Given the description of an element on the screen output the (x, y) to click on. 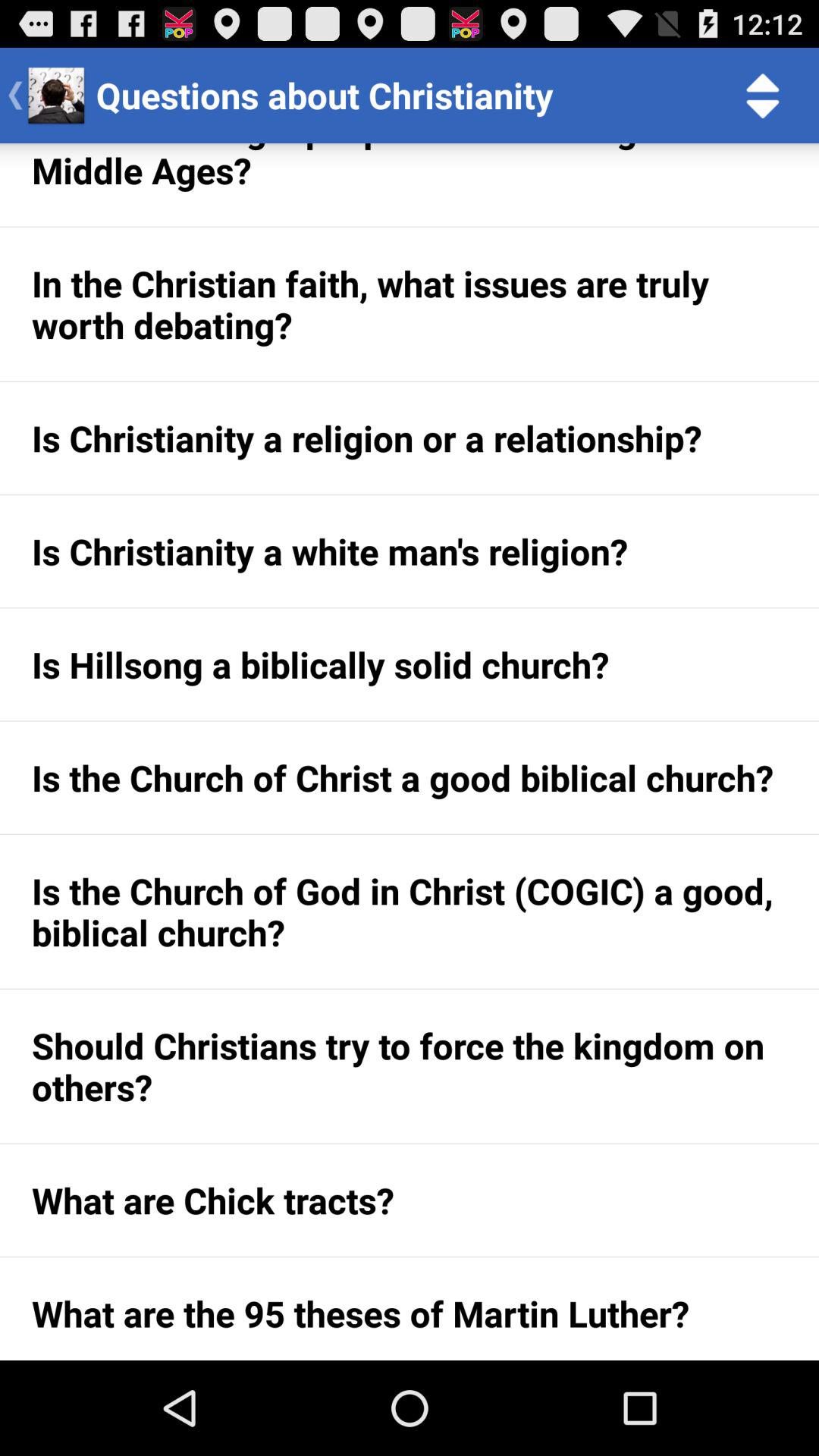
click item next to the questions about christianity item (763, 95)
